Given the description of an element on the screen output the (x, y) to click on. 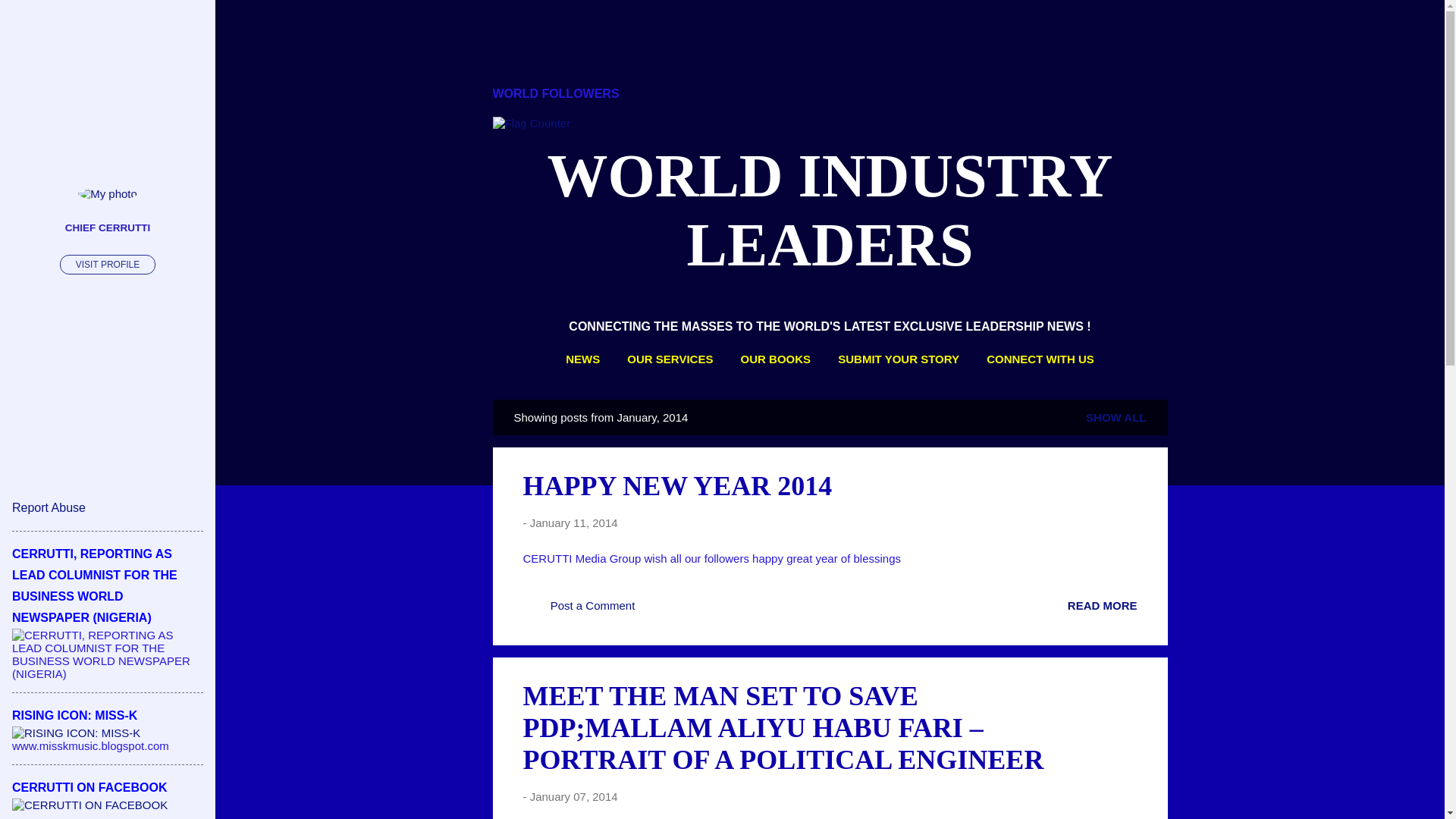
HAPPY NEW YEAR 2014 (677, 485)
OUR SERVICES (670, 359)
SHOW ALL (1115, 416)
Post a Comment (578, 609)
January 11, 2014 (573, 522)
CONNECT WITH US (1039, 359)
Email Post (658, 609)
SUBMIT YOUR STORY (898, 359)
Search (29, 18)
WORLD INDUSTRY LEADERS (829, 210)
